Given the description of an element on the screen output the (x, y) to click on. 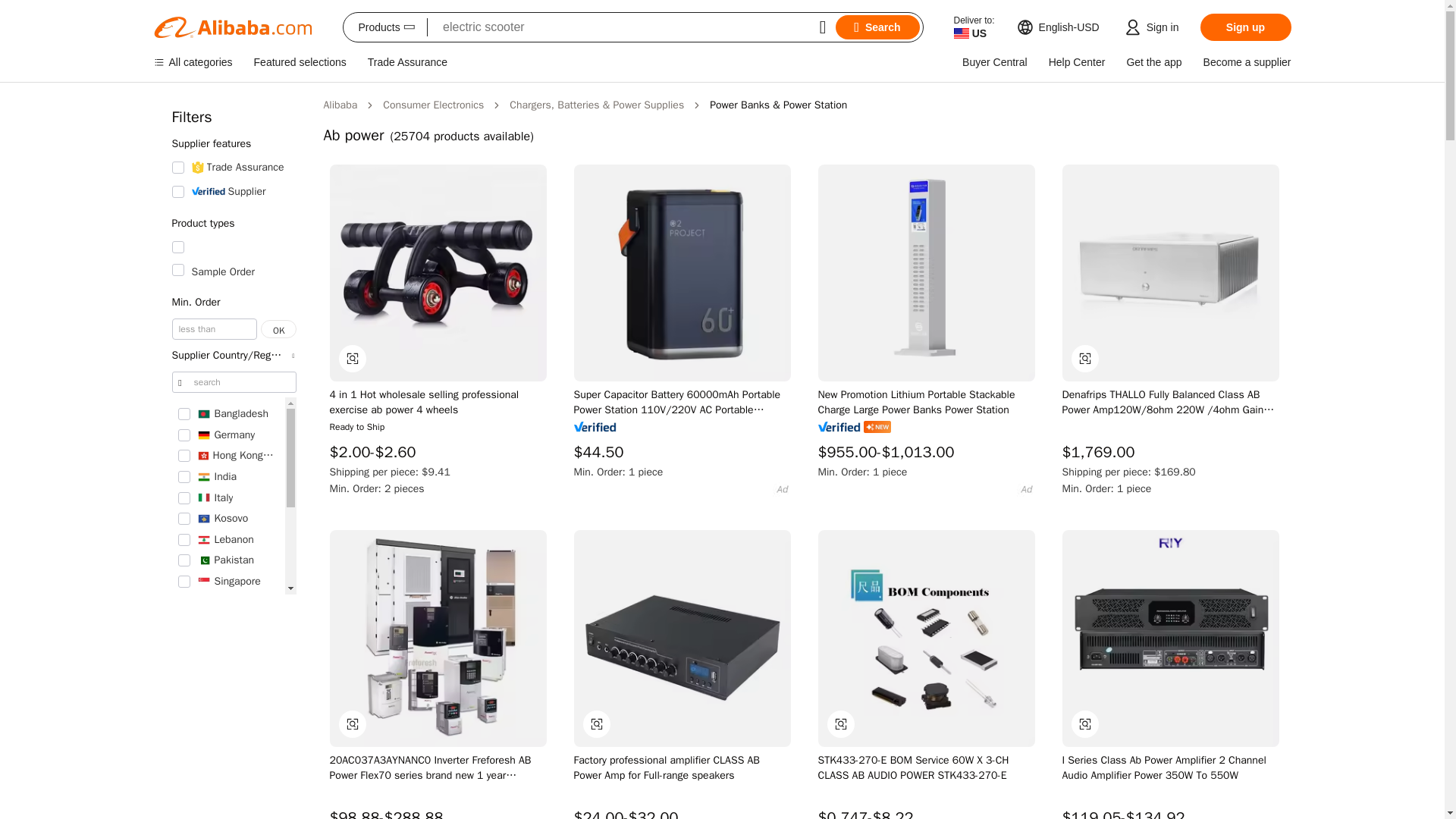
Product types (233, 223)
Supplier features (233, 143)
Min. Order (233, 302)
